Given the description of an element on the screen output the (x, y) to click on. 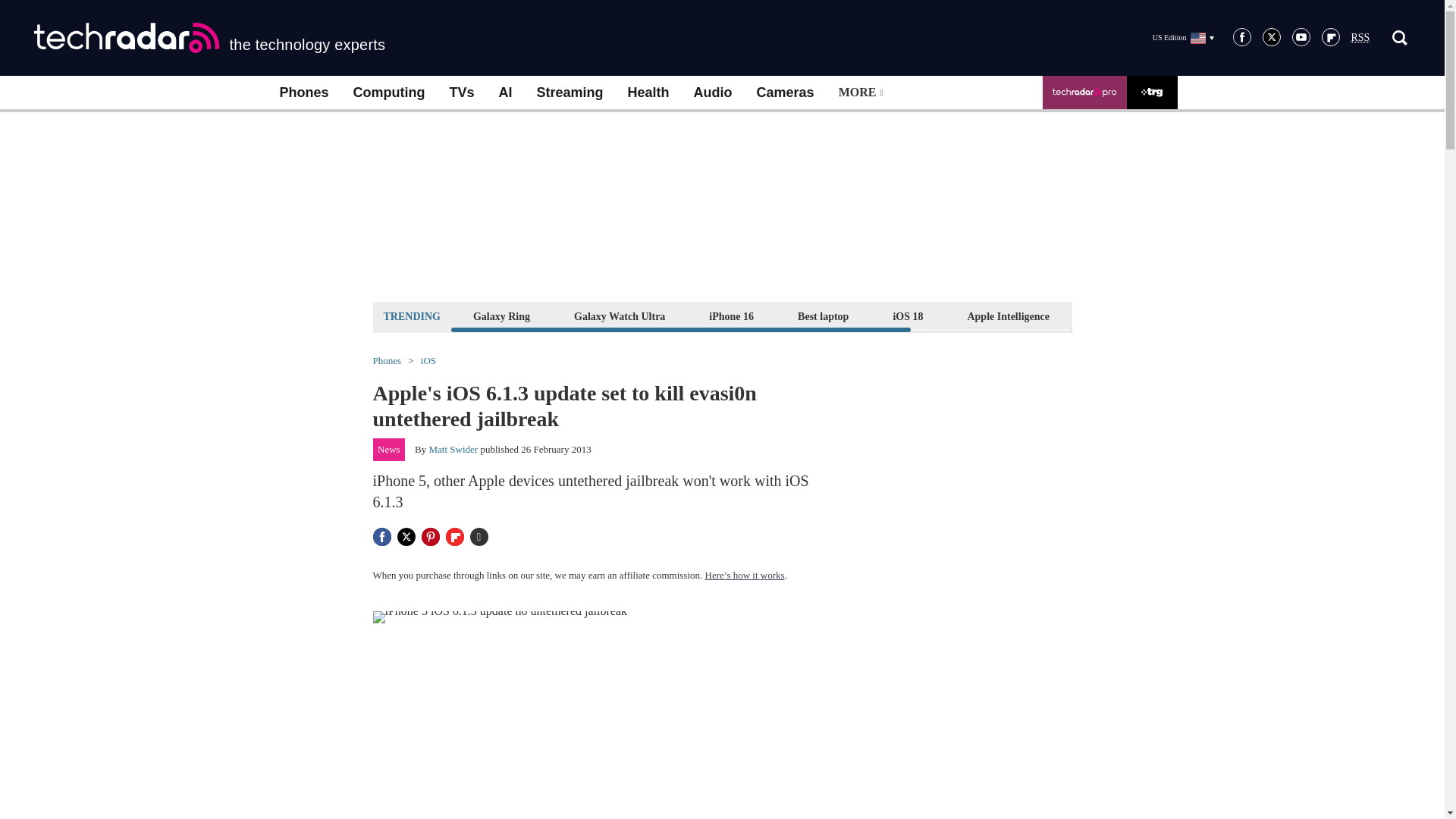
AI (505, 92)
the technology experts (209, 38)
Cameras (785, 92)
Audio (712, 92)
US Edition (1182, 37)
Phones (303, 92)
Computing (389, 92)
Really Simple Syndication (1360, 37)
Streaming (569, 92)
Health (648, 92)
TVs (461, 92)
